Given the description of an element on the screen output the (x, y) to click on. 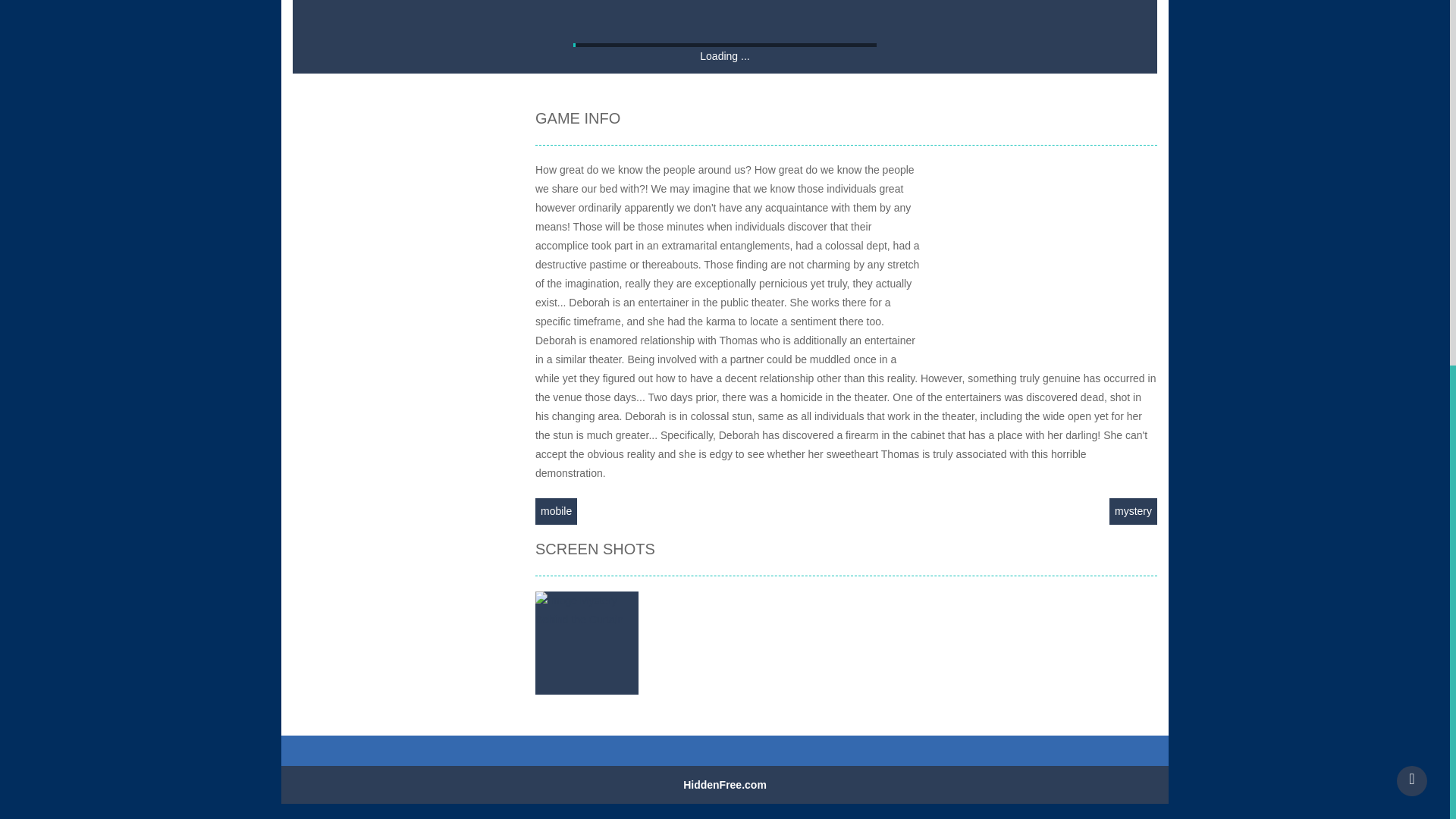
mobile (555, 510)
HiddenFree.com (724, 784)
mystery (1133, 510)
HiddenFree.com (724, 784)
Back to Top (1411, 120)
